Given the description of an element on the screen output the (x, y) to click on. 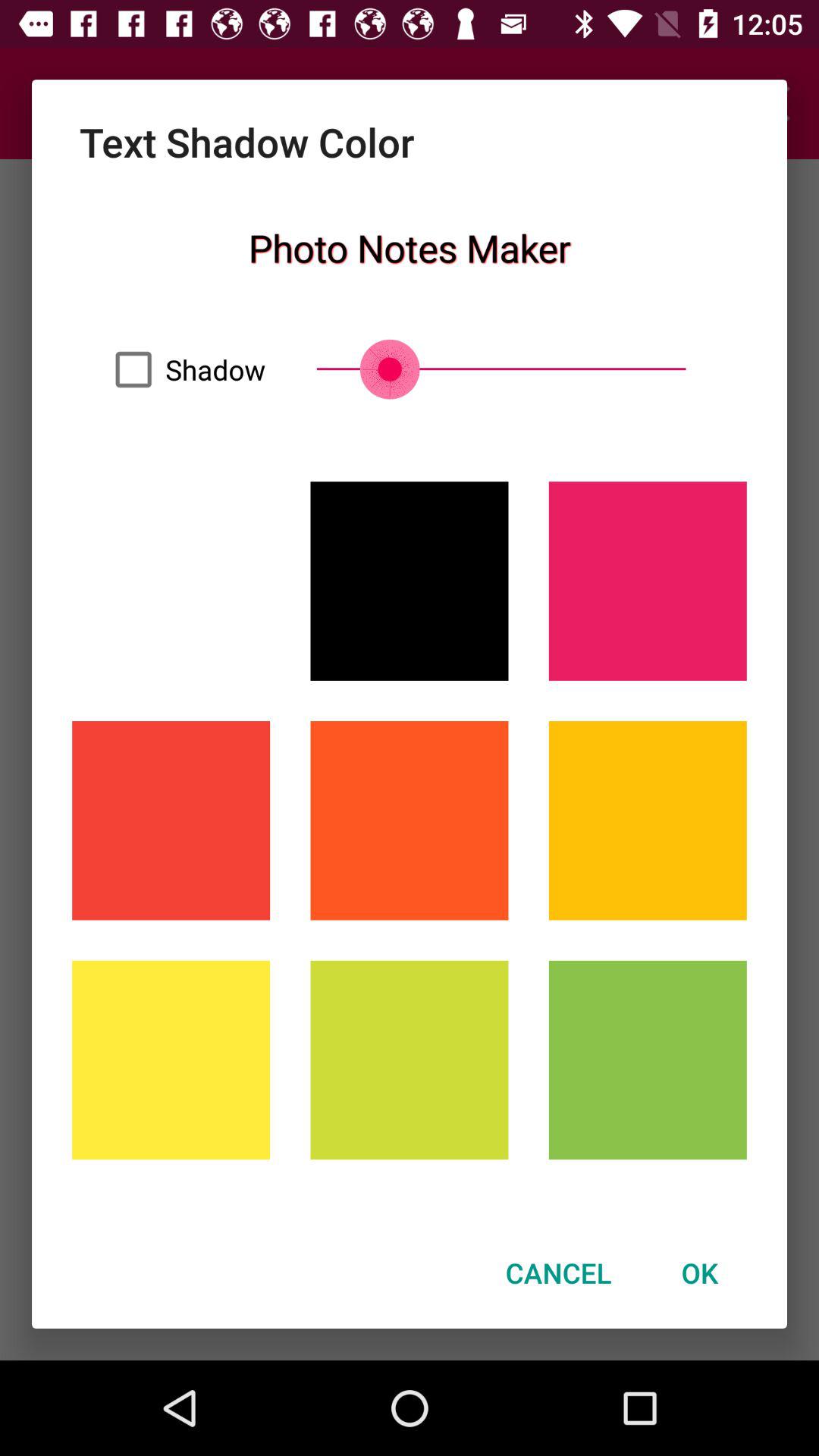
swipe to the ok (699, 1272)
